Given the description of an element on the screen output the (x, y) to click on. 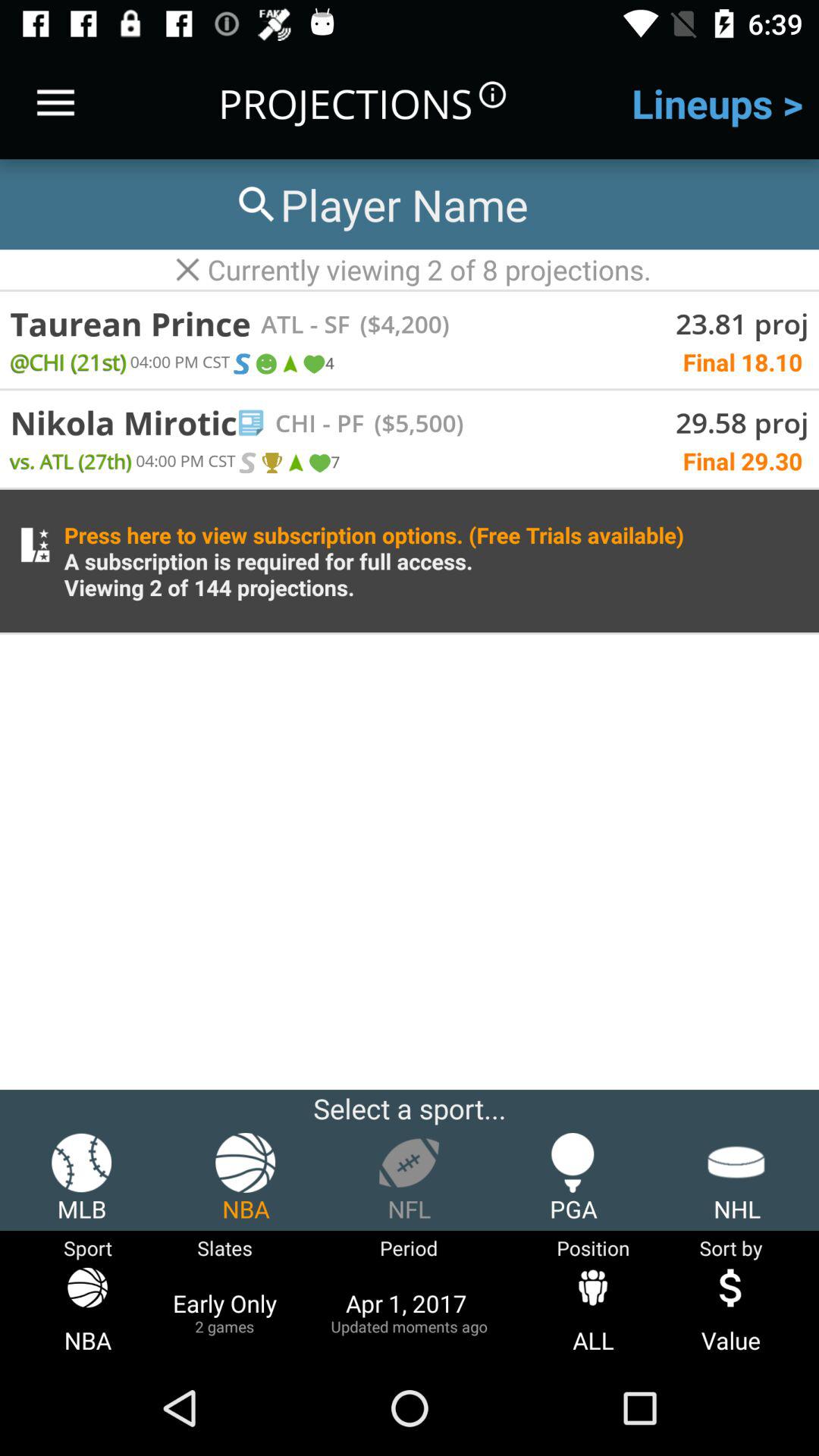
launch the item to the left of the 04 00 pm icon (70, 460)
